Given the description of an element on the screen output the (x, y) to click on. 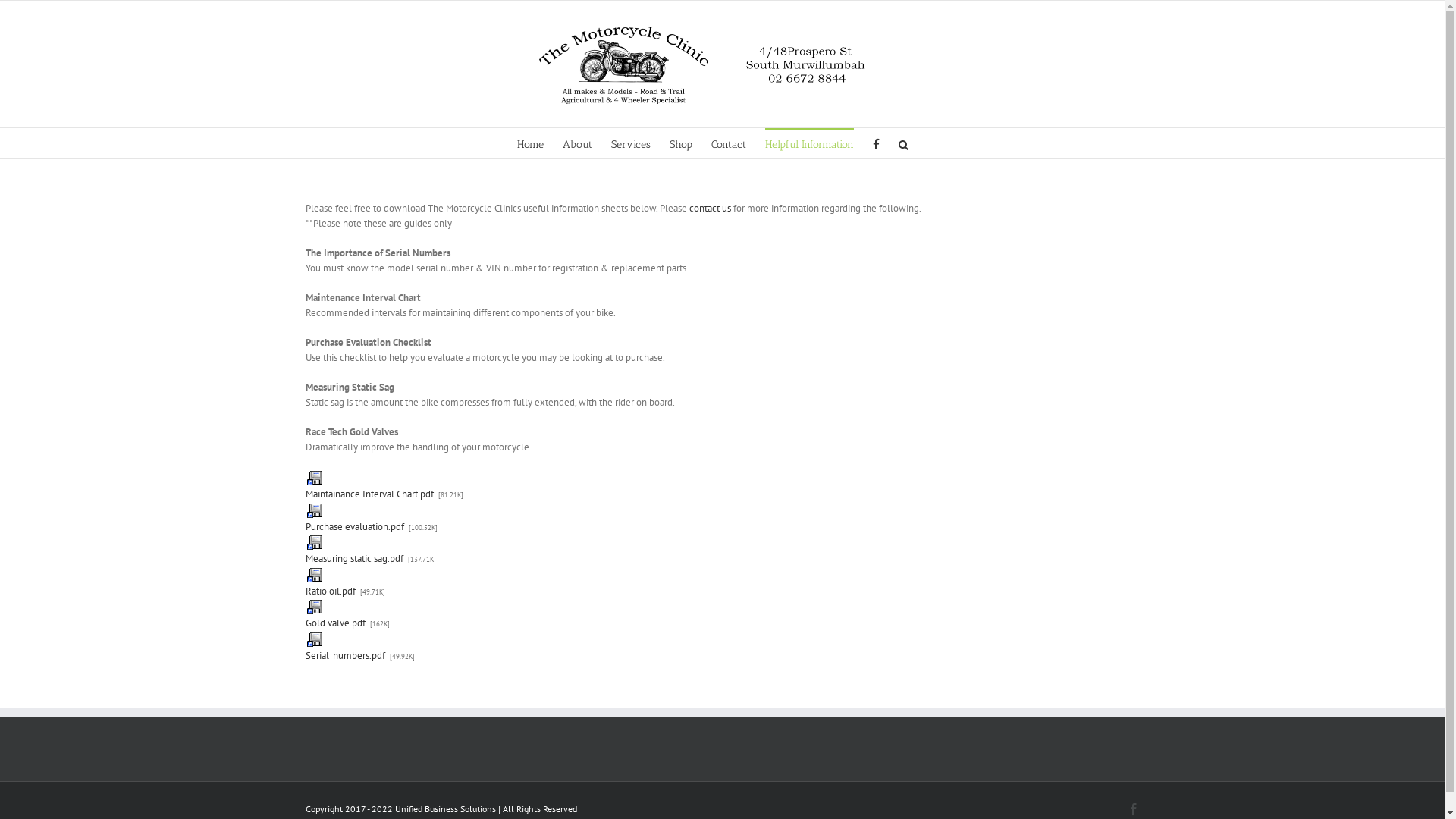
Facebook Element type: text (1132, 809)
Home Element type: text (530, 143)
Contact Element type: text (728, 143)
Measuring static sag.pdf Element type: text (353, 549)
About Element type: text (577, 143)
Helpful Information Element type: text (809, 143)
contact us Element type: text (710, 207)
Maintainance Interval Chart.pdf Element type: text (368, 485)
Purchase evaluation.pdf Element type: text (353, 517)
Ratio oil.pdf Element type: text (329, 582)
Gold valve.pdf Element type: text (334, 614)
Search Element type: hover (903, 143)
Services Element type: text (630, 143)
Serial_numbers.pdf Element type: text (344, 645)
Shop Element type: text (680, 143)
